Given the description of an element on the screen output the (x, y) to click on. 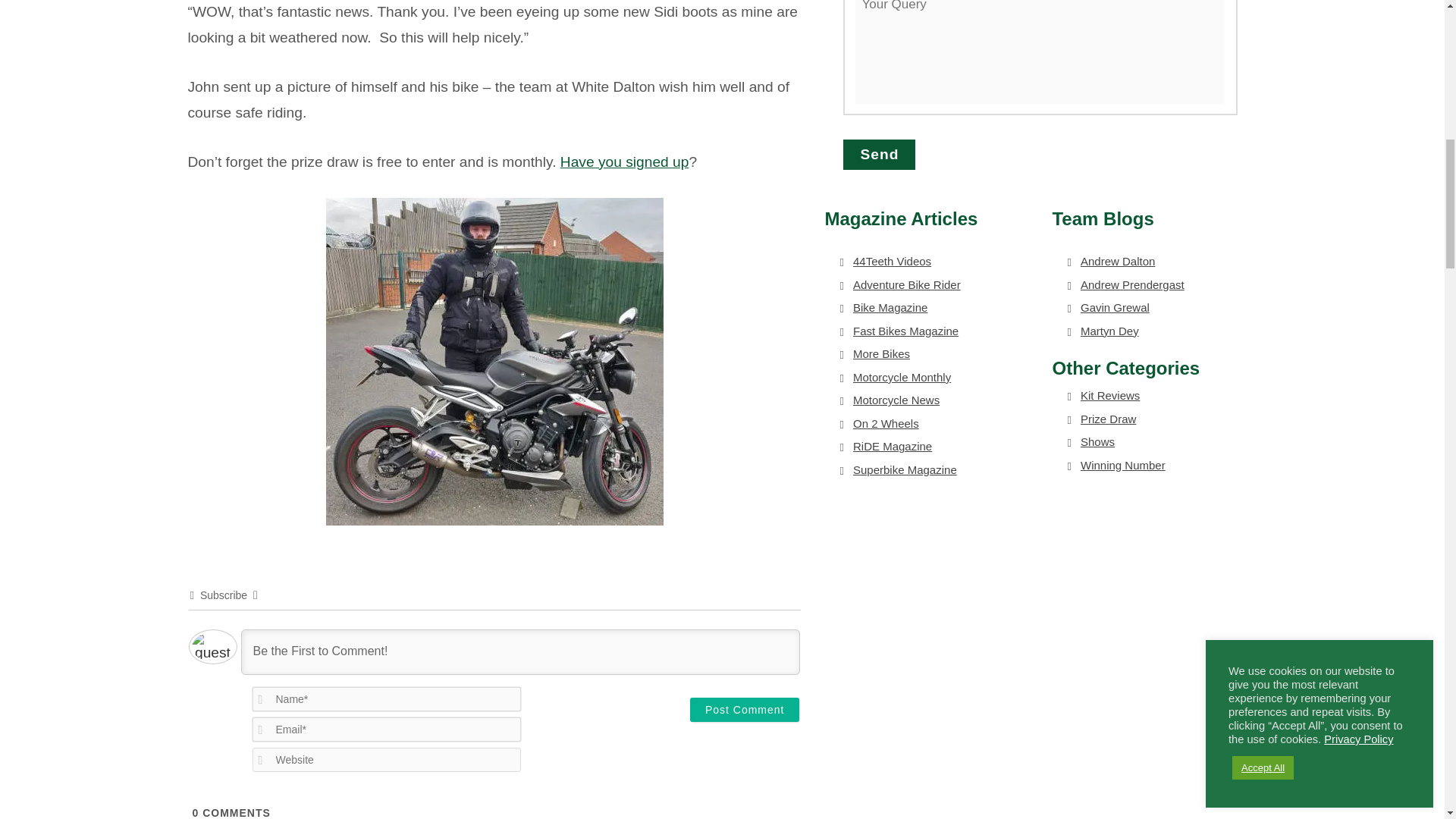
Post Comment (744, 709)
Send (879, 154)
